Given the description of an element on the screen output the (x, y) to click on. 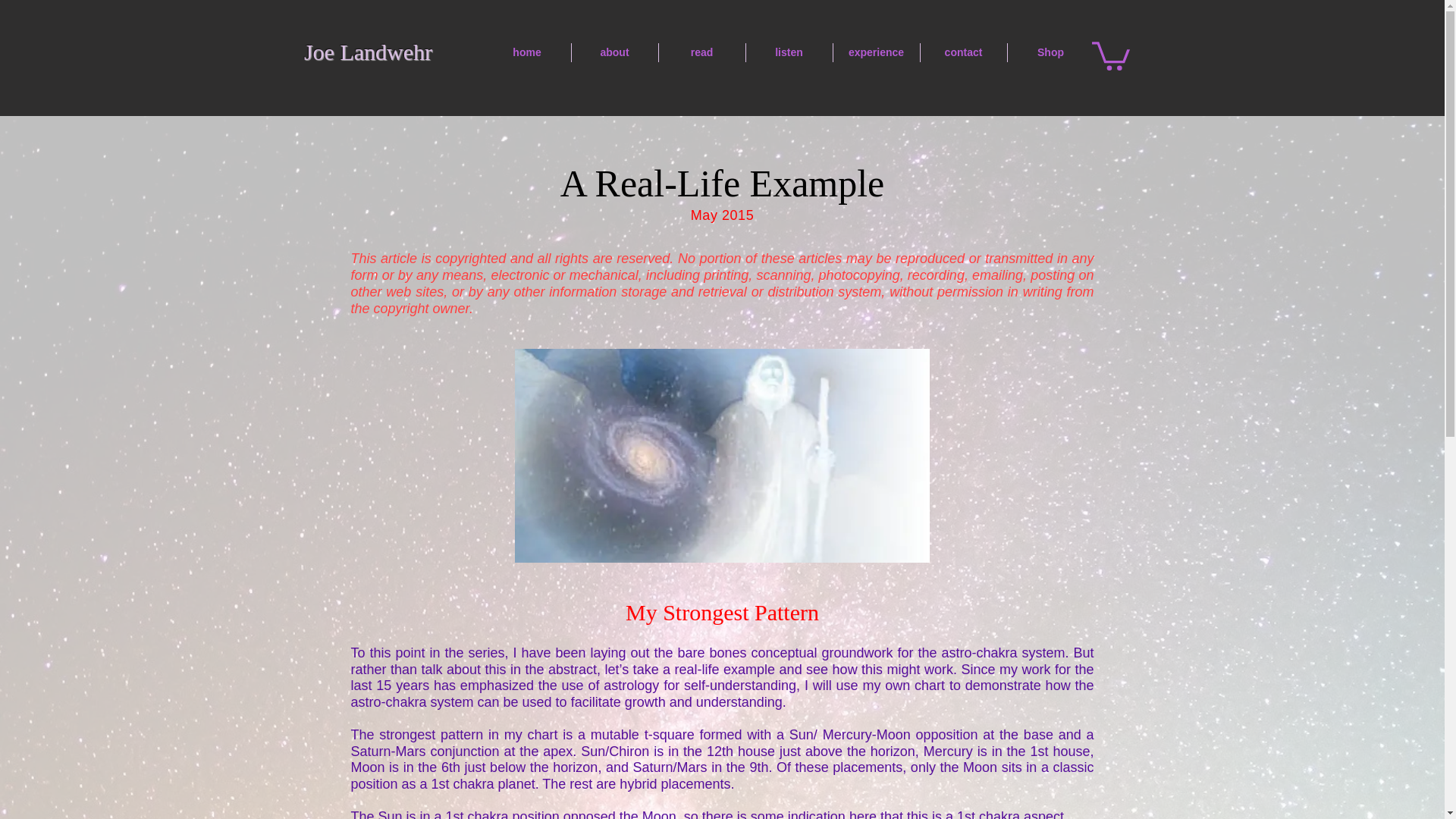
contact (963, 52)
Shop (1050, 52)
read (701, 52)
experience (875, 52)
listen (788, 52)
about (615, 52)
Tracking the Soul.jpg (720, 455)
home (526, 52)
